Given the description of an element on the screen output the (x, y) to click on. 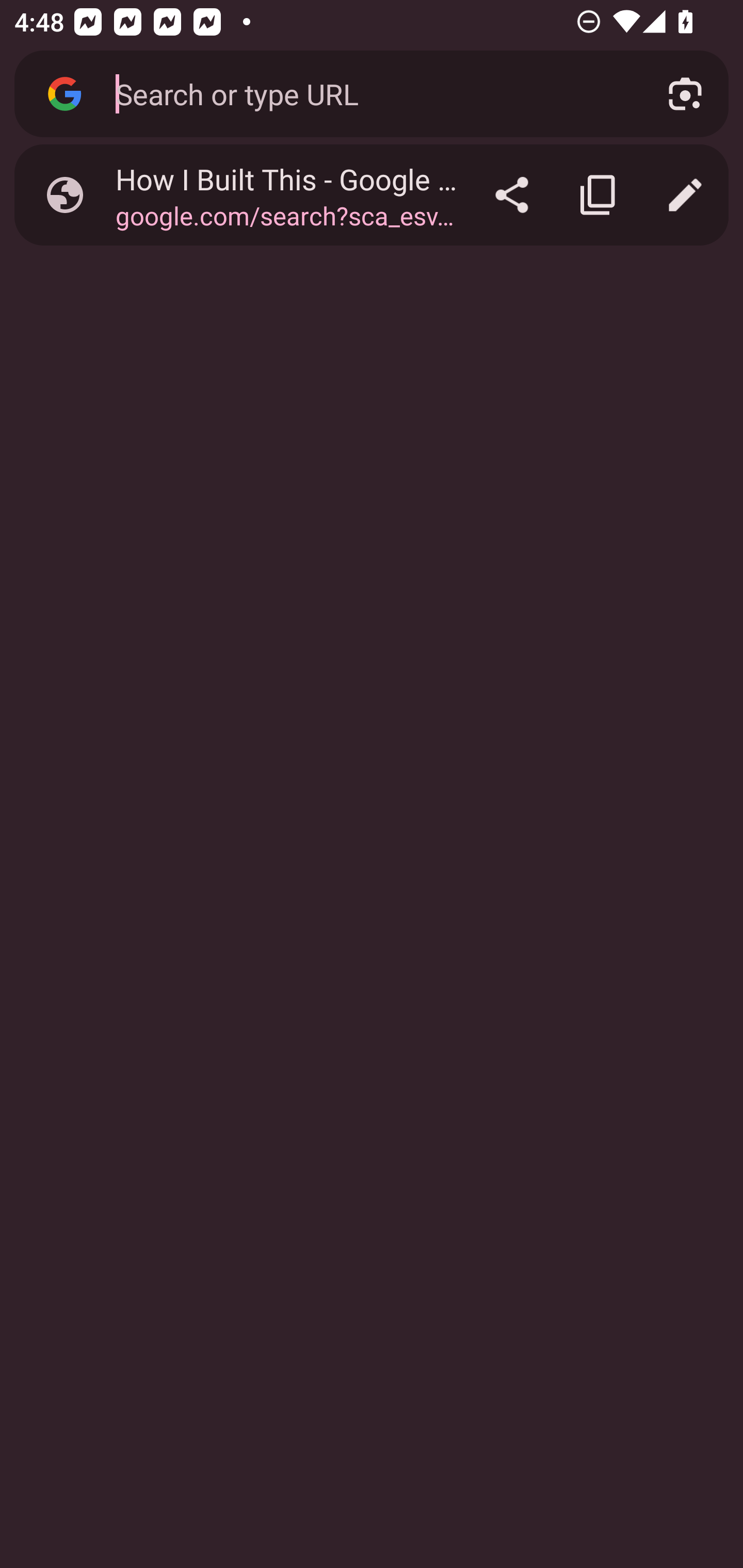
Search with your camera using Google Lens (684, 93)
Search or type URL (367, 92)
Share… (511, 195)
Copy link (598, 195)
Edit (684, 195)
